Given the description of an element on the screen output the (x, y) to click on. 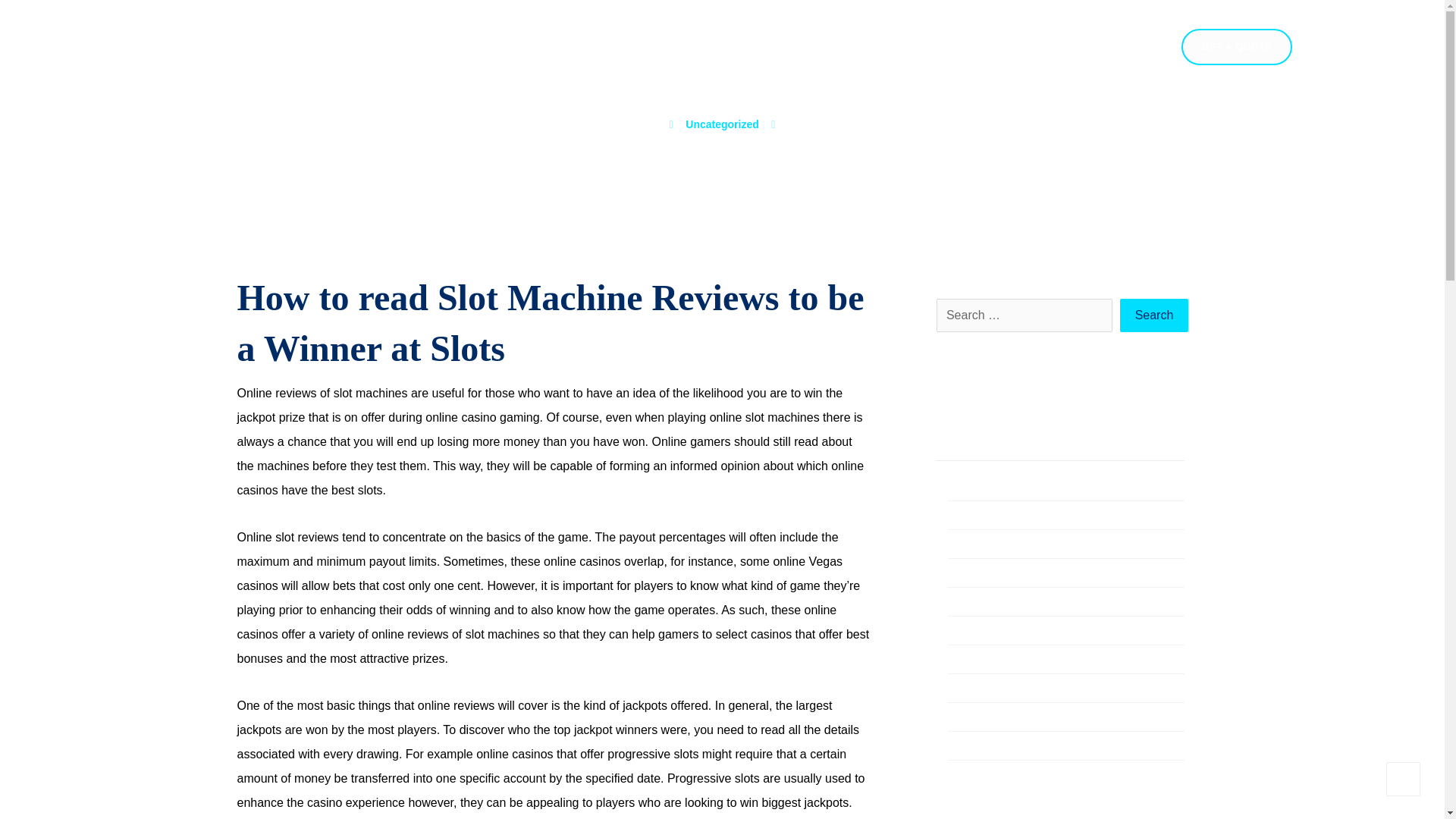
Experience Digital and Beyond (210, 87)
Search (1154, 315)
Search (1154, 315)
SERVICES (1016, 53)
GET A QUOTE (1236, 46)
Uncategorized (721, 123)
ABOUT US (925, 53)
Search (1154, 315)
HOME (846, 53)
CONTACT US (1115, 53)
